Given the description of an element on the screen output the (x, y) to click on. 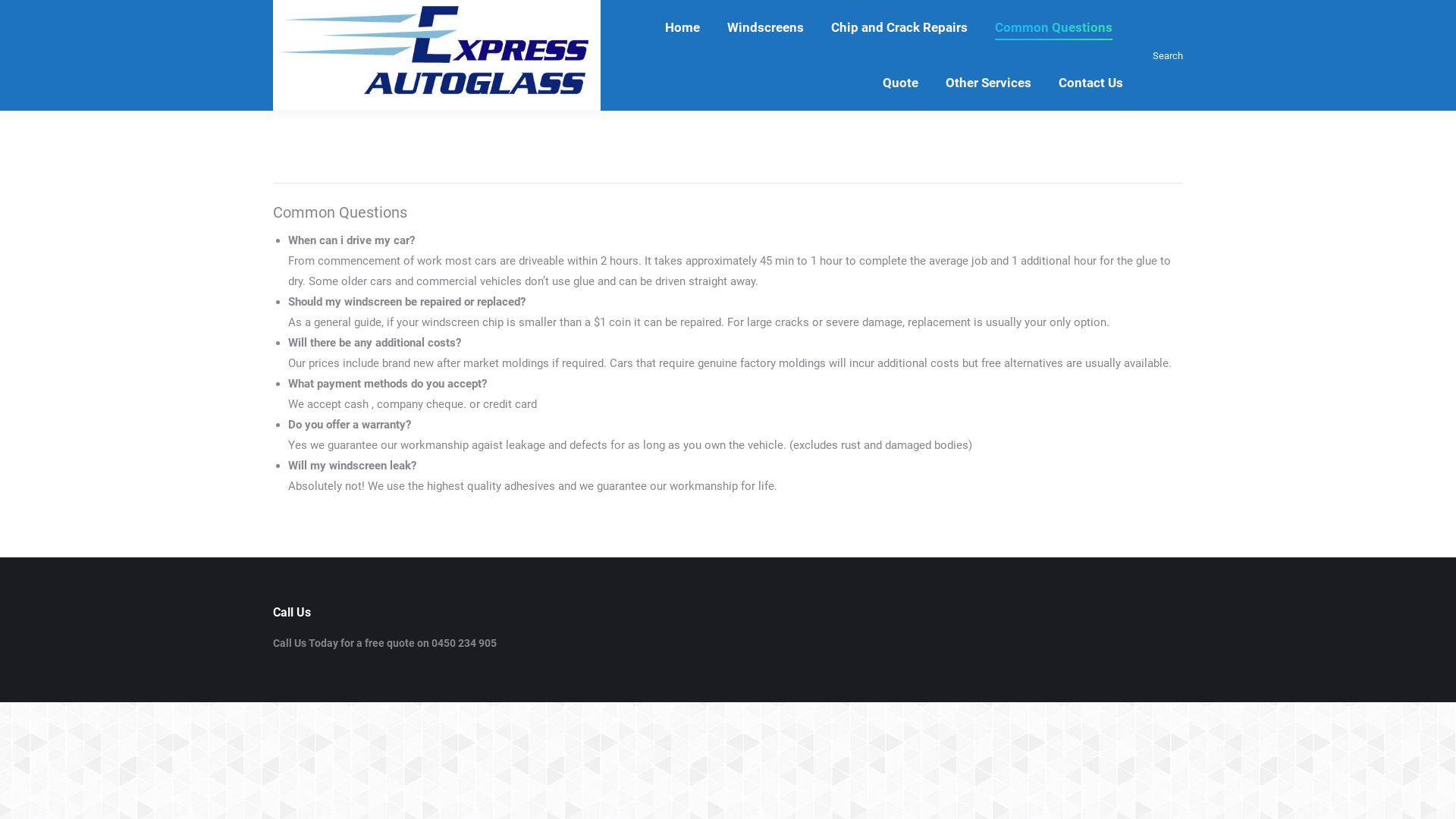
Search Element type: text (1165, 55)
Windscreens Element type: text (765, 27)
Chip and Crack Repairs Element type: text (899, 27)
Home Element type: text (682, 27)
Go! Element type: text (23, 15)
Common Questions Element type: text (1053, 27)
Contact Us Element type: text (1090, 83)
Other Services Element type: text (988, 83)
Quote Element type: text (900, 83)
